Given the description of an element on the screen output the (x, y) to click on. 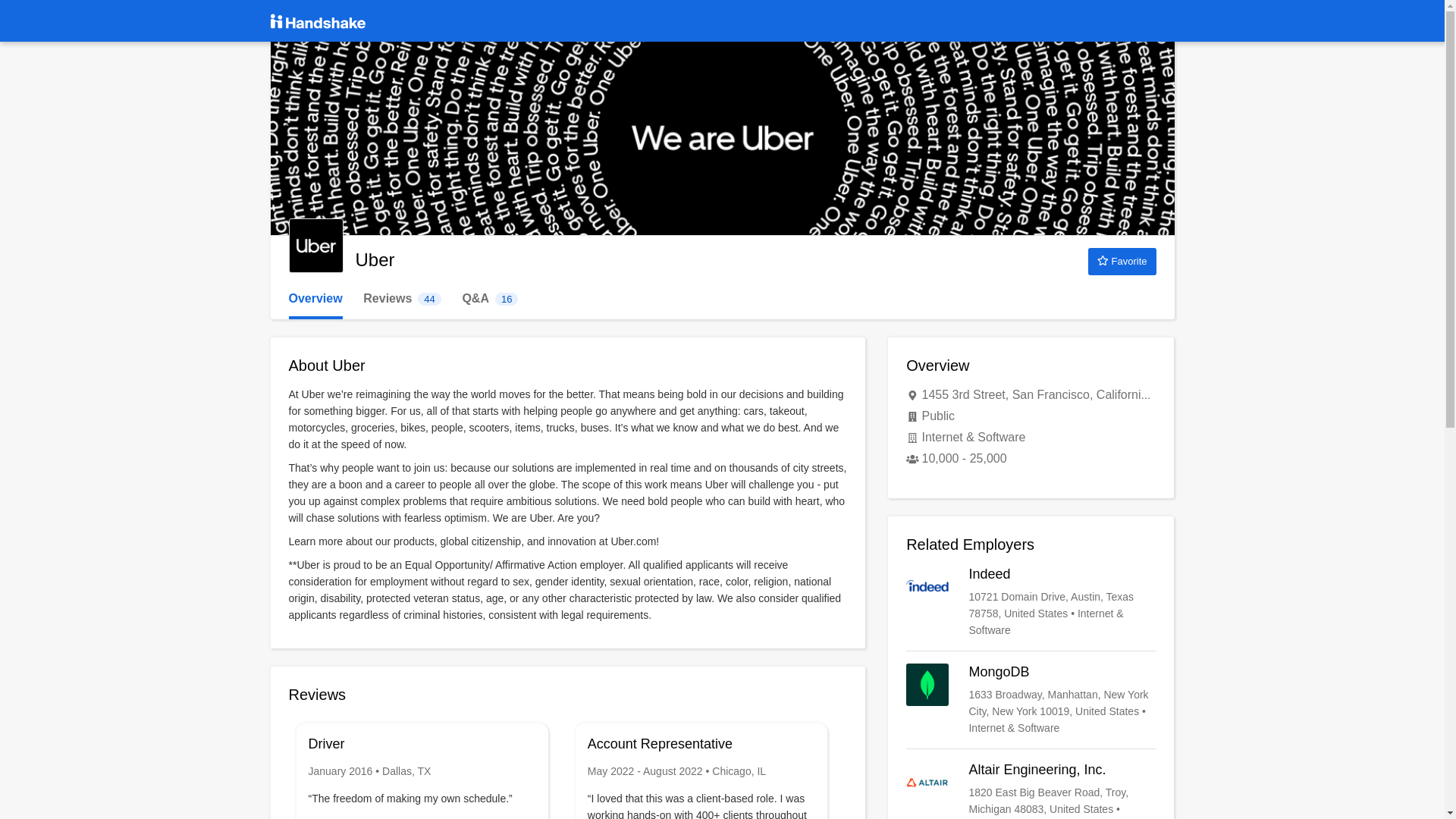
Altair Engineering, Inc. (1030, 790)
Indeed (1030, 601)
MongoDB (1030, 699)
Overview (315, 298)
Favorite (1121, 261)
Uber (401, 298)
